Given the description of an element on the screen output the (x, y) to click on. 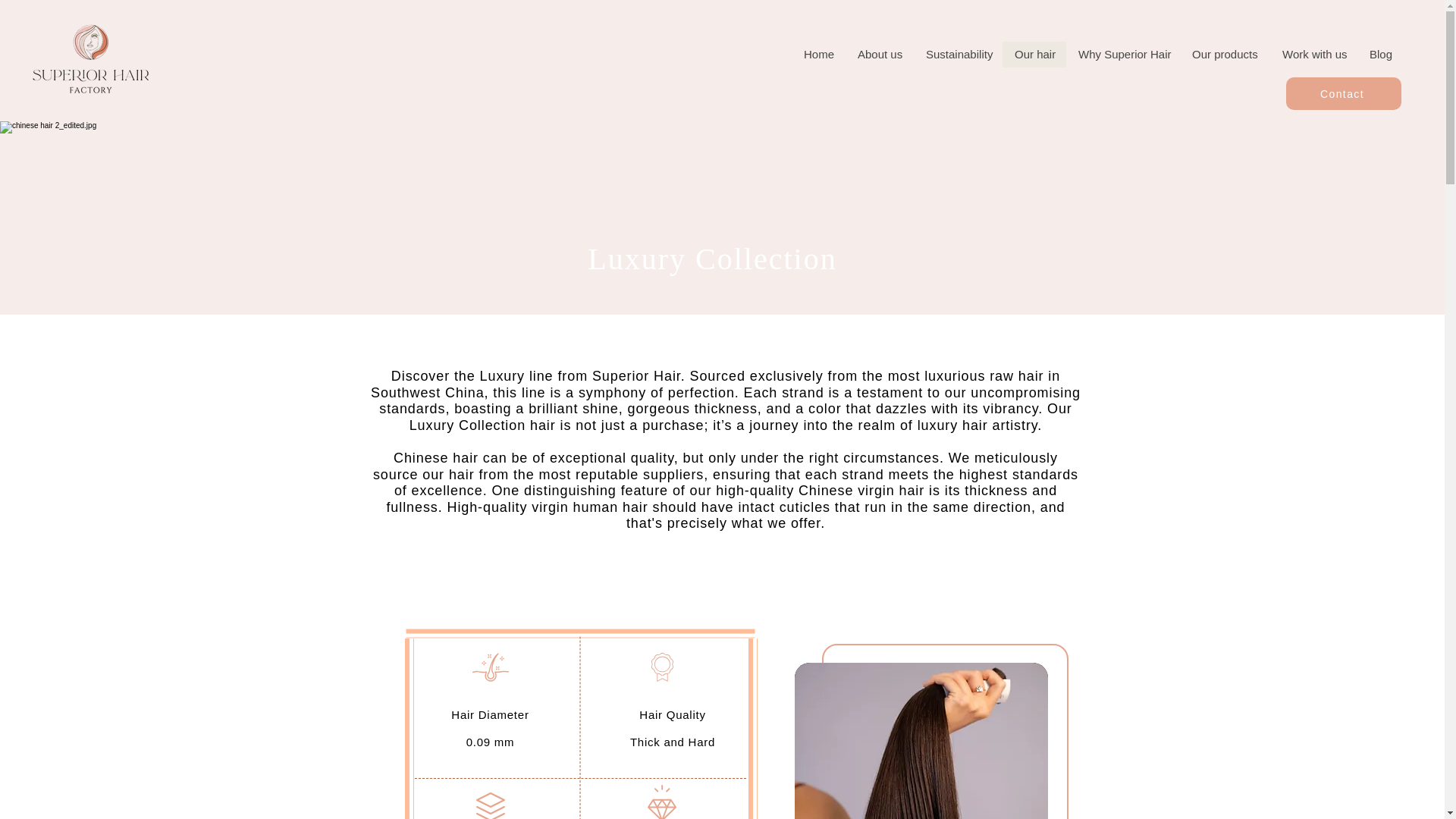
Blog (1379, 54)
Contact (1342, 92)
Sustainability (958, 54)
Our products (1224, 54)
About us (879, 54)
Home (818, 54)
Our hair (1034, 54)
Why Superior Hair (1122, 54)
Work with us (1312, 54)
